Given the description of an element on the screen output the (x, y) to click on. 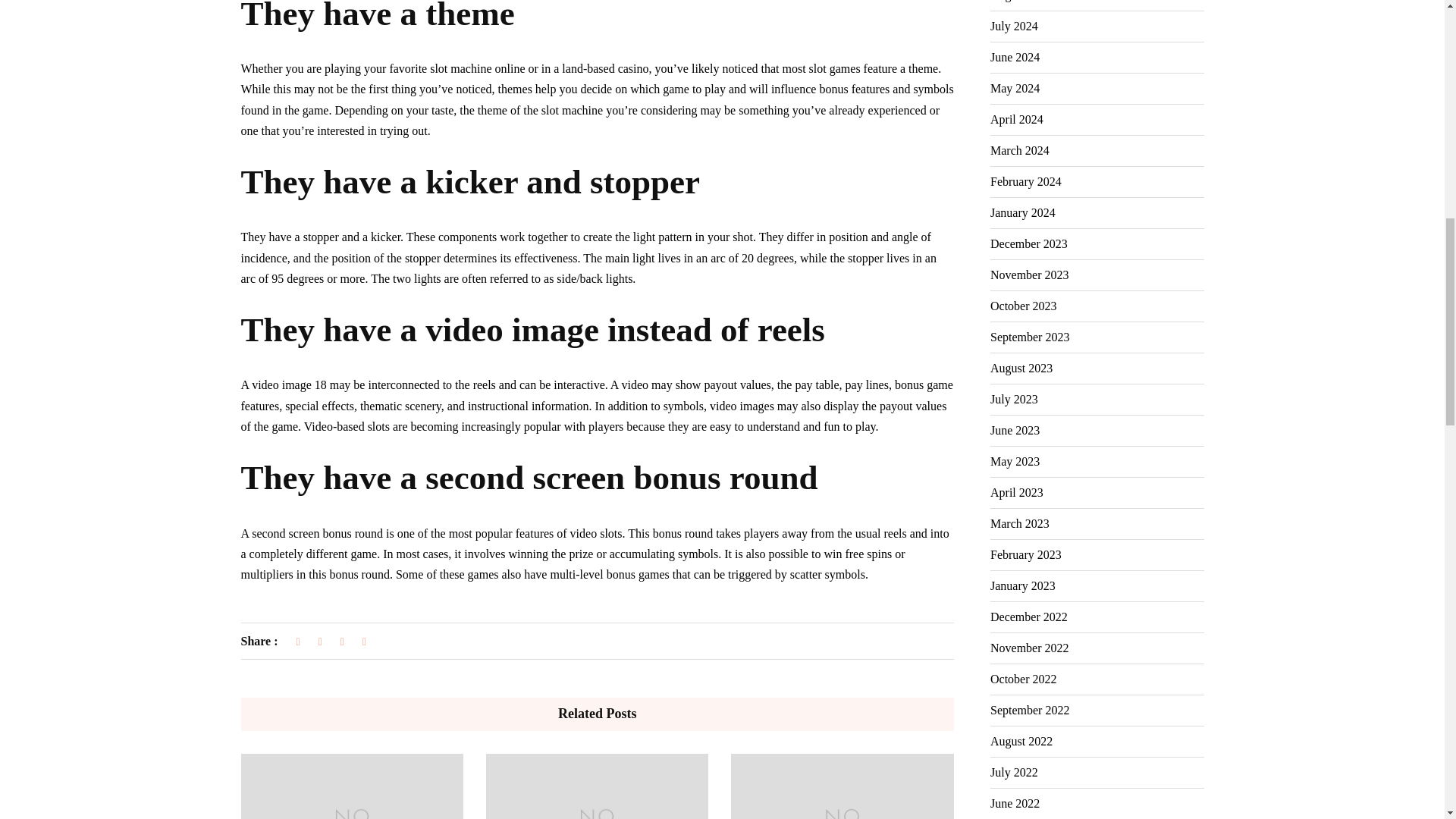
December 2023 (1028, 244)
February 2024 (1025, 182)
May 2024 (1014, 88)
January 2024 (1022, 213)
April 2024 (1016, 119)
August 2024 (1021, 5)
November 2023 (1029, 275)
March 2024 (1019, 150)
October 2023 (1023, 306)
July 2024 (1014, 26)
